Given the description of an element on the screen output the (x, y) to click on. 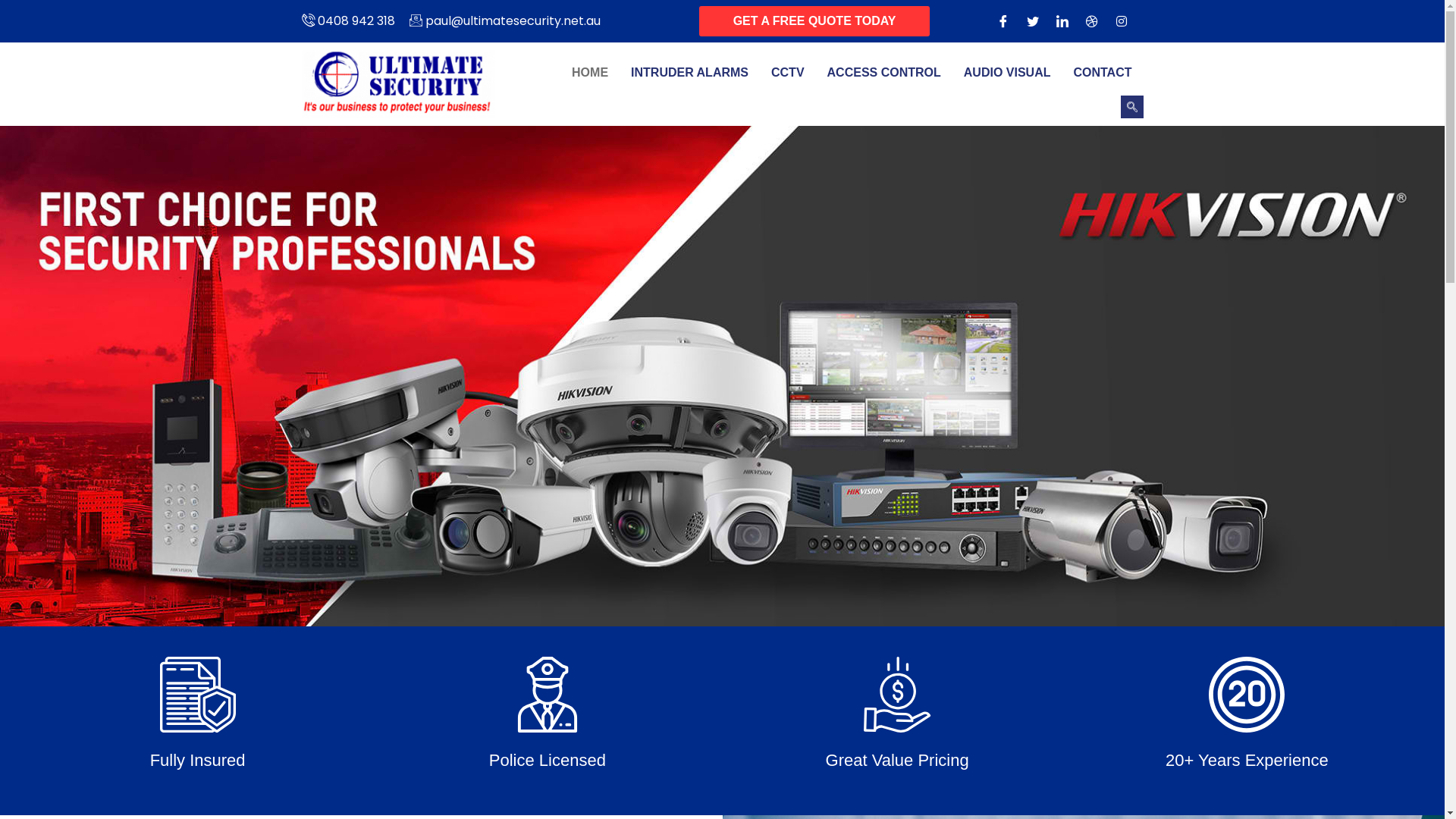
CCTV Element type: text (787, 72)
INTRUDER ALARMS Element type: text (689, 72)
HOME Element type: text (589, 72)
ACCESS CONTROL Element type: text (883, 72)
CONTACT Element type: text (1101, 72)
AUDIO VISUAL Element type: text (1007, 72)
GET A FREE QUOTE TODAY Element type: text (814, 21)
0408 942 318 Element type: text (348, 21)
